Given the description of an element on the screen output the (x, y) to click on. 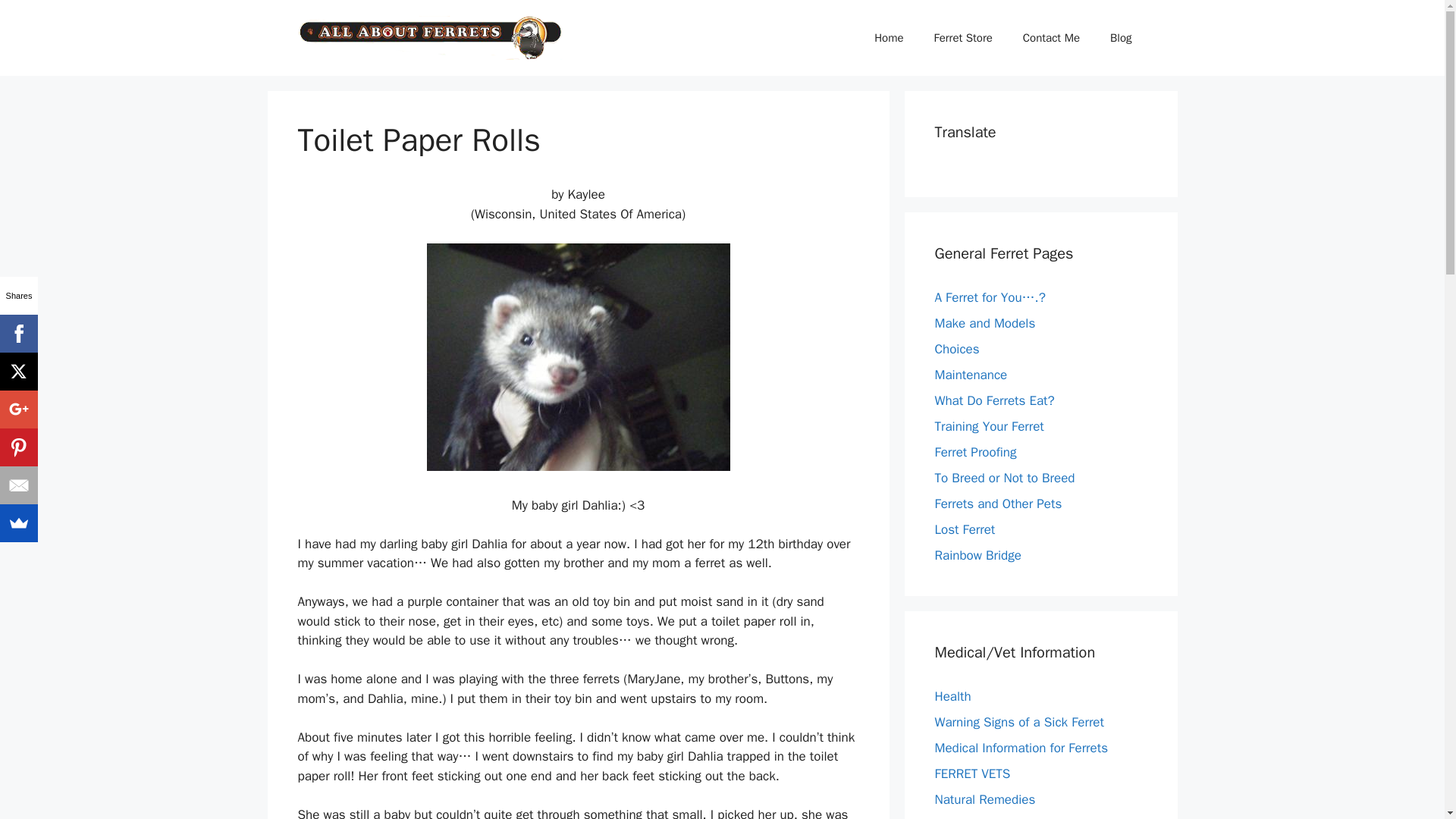
Ferret Proofing (975, 452)
Home (888, 37)
Choices (956, 349)
Natural Remedies (984, 799)
X (18, 371)
Warning Signs of a Sick Ferret (1018, 722)
Maintenance (970, 374)
Ferret Store (962, 37)
FERRET VETS (972, 773)
Email (18, 485)
What Do Ferrets Eat? (994, 400)
Health (952, 696)
Rainbow Bridge (977, 555)
Training Your Ferret (988, 426)
